Given the description of an element on the screen output the (x, y) to click on. 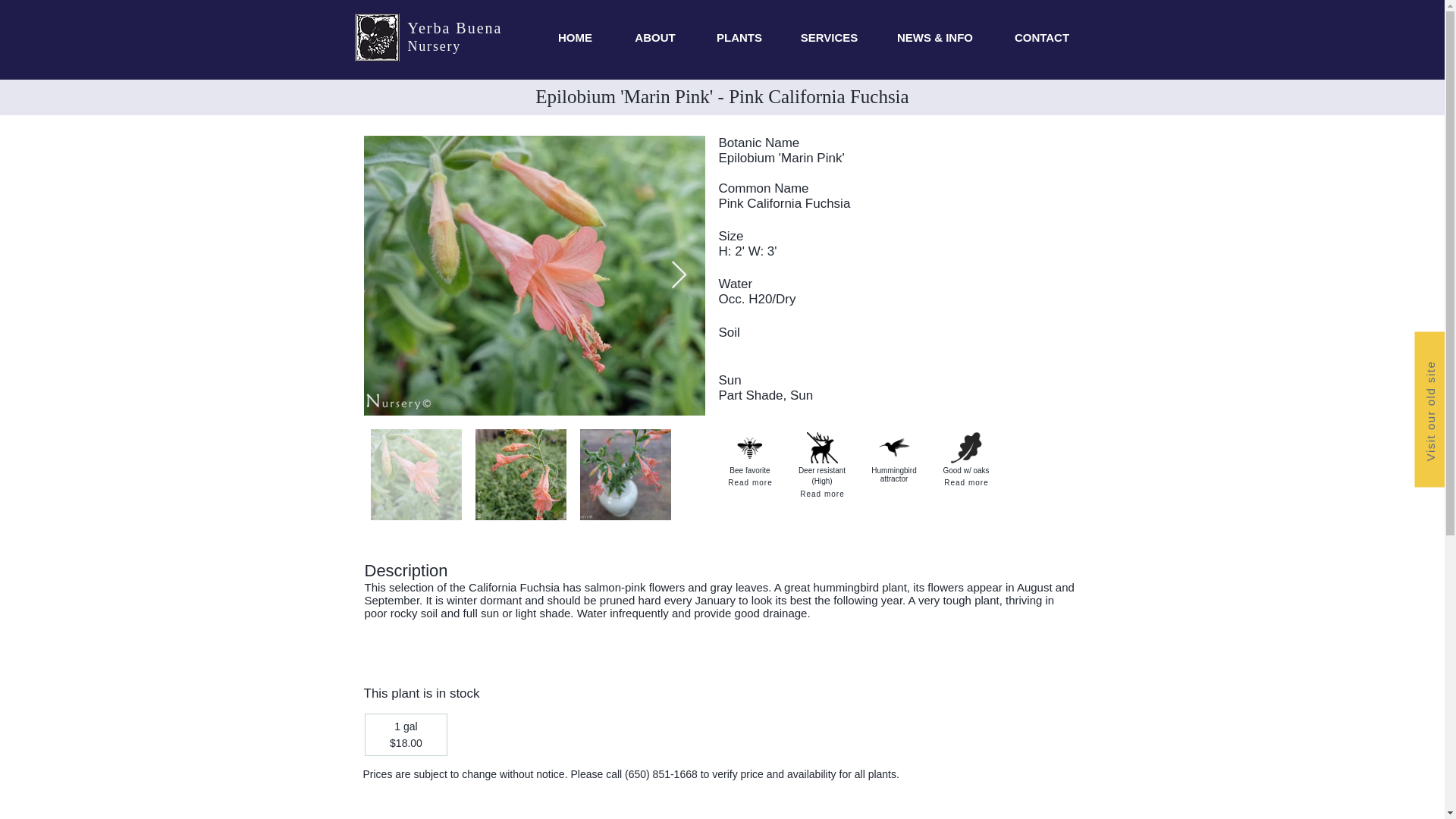
Yerba Buena Nursery - Caliornia Native Plants (376, 37)
Read more (965, 482)
Read more (750, 482)
Bee favorite (749, 447)
Read more (821, 493)
HOME (575, 37)
SERVICES (829, 37)
Deer resistant (822, 447)
ABOUT (655, 37)
Hummingbird attractor (892, 447)
